Given the description of an element on the screen output the (x, y) to click on. 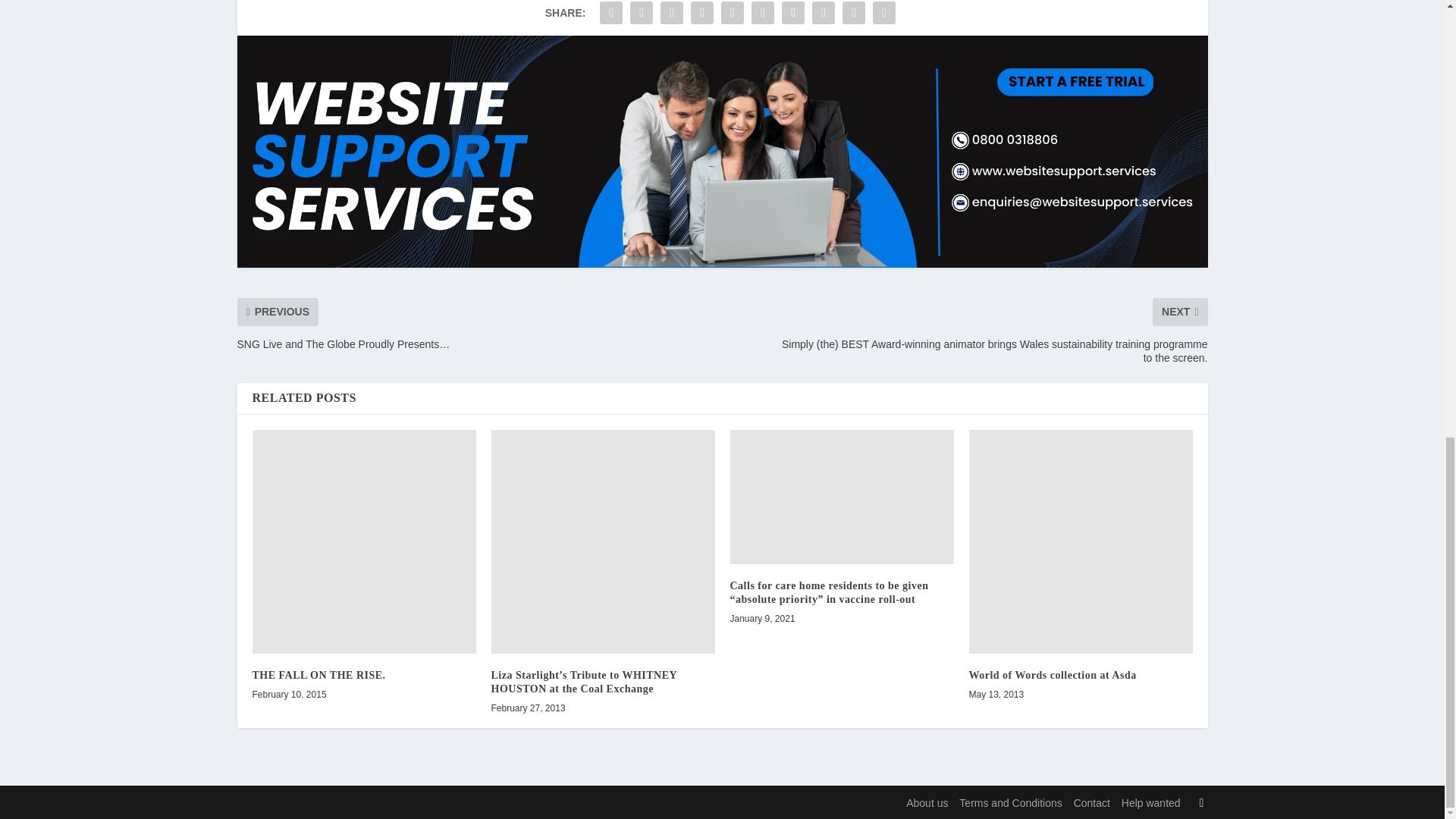
THE FALL ON THE RISE. (363, 541)
World of Words collection at Asda (1080, 541)
